Given the description of an element on the screen output the (x, y) to click on. 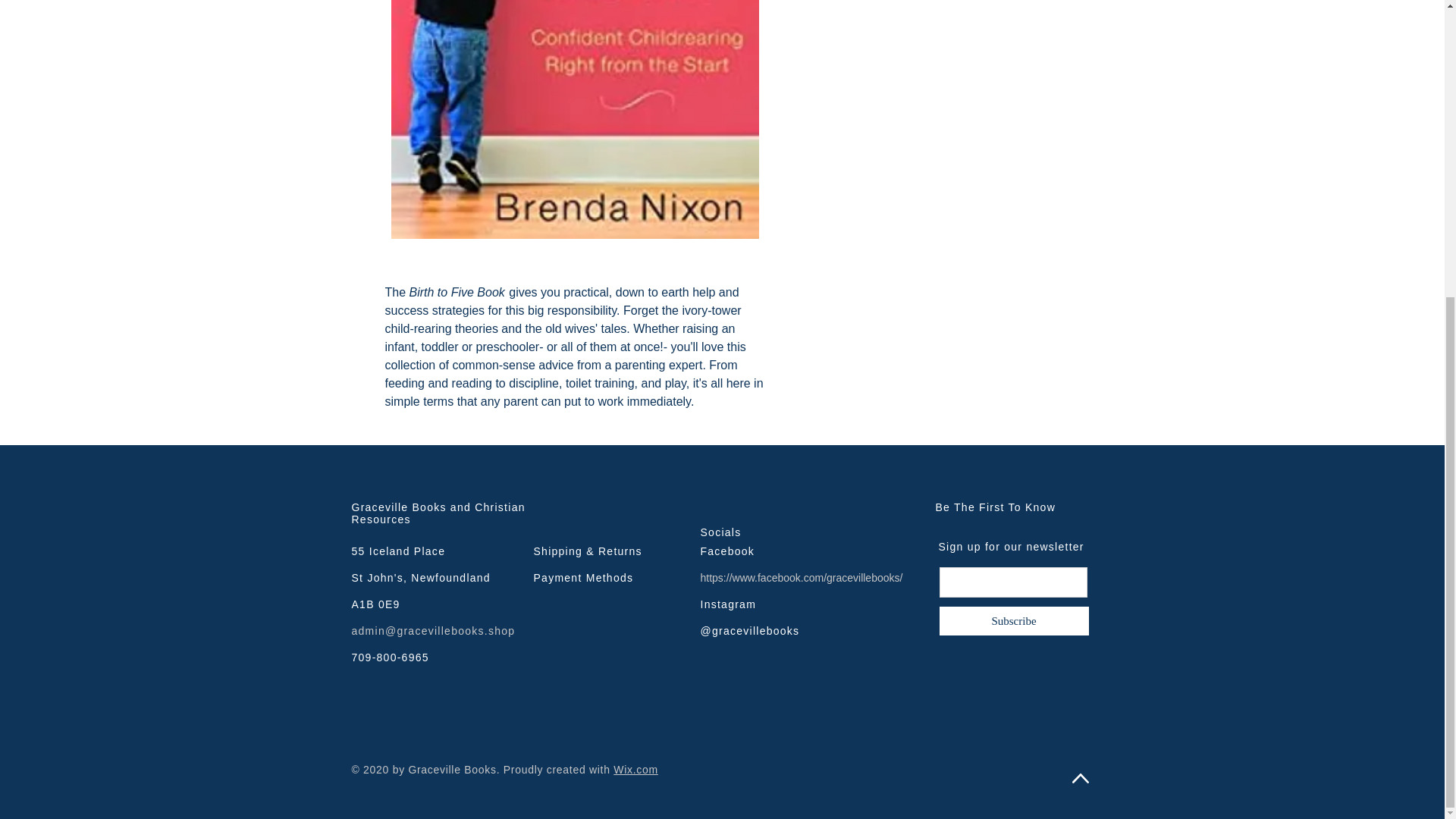
Subscribe (1013, 621)
Wix.com (635, 769)
Instagram (728, 604)
Facebook (727, 551)
Payment Methods (583, 577)
